Given the description of an element on the screen output the (x, y) to click on. 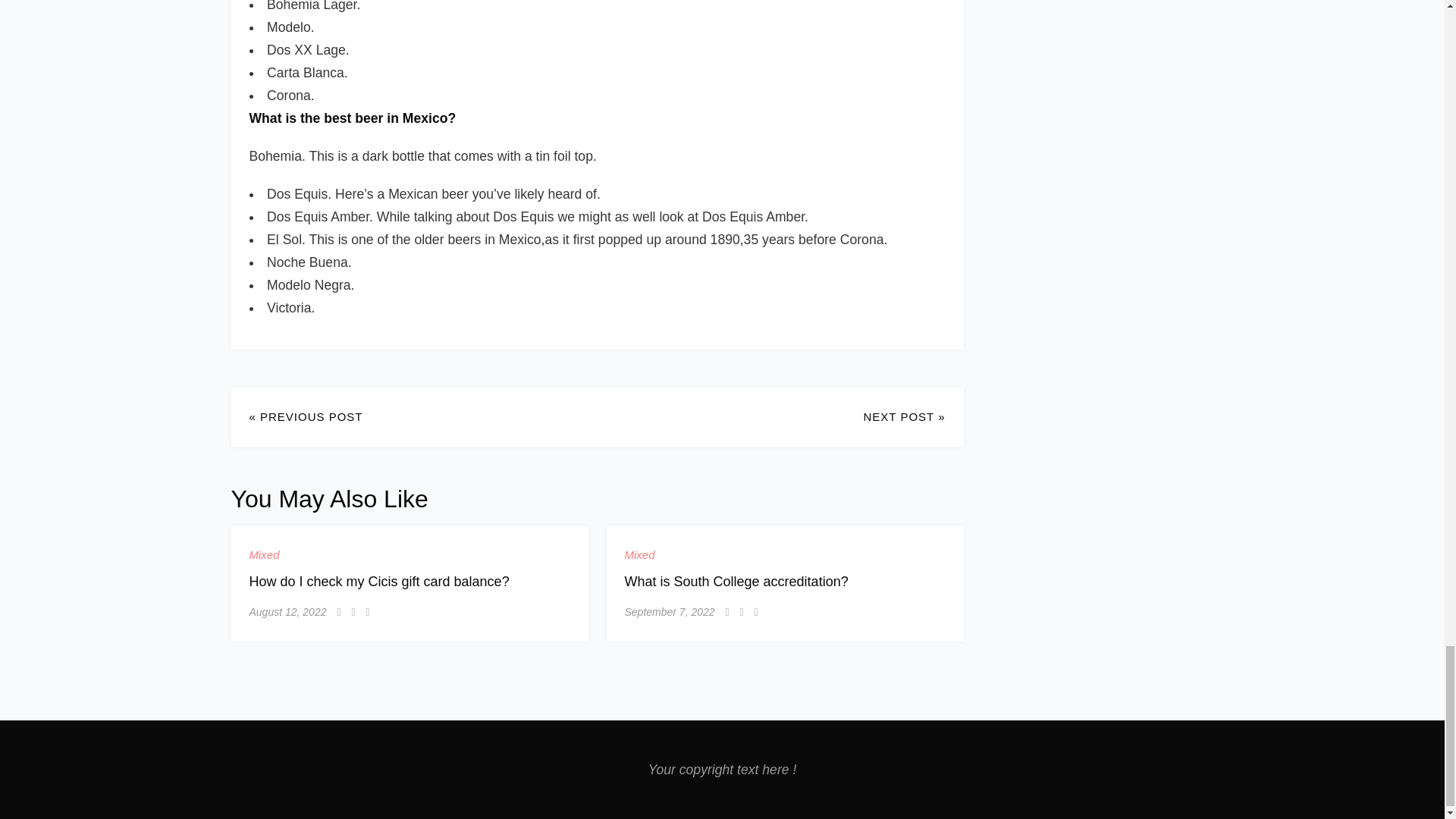
Mixed (263, 554)
How do I check my Cicis gift card balance? (378, 581)
